Given the description of an element on the screen output the (x, y) to click on. 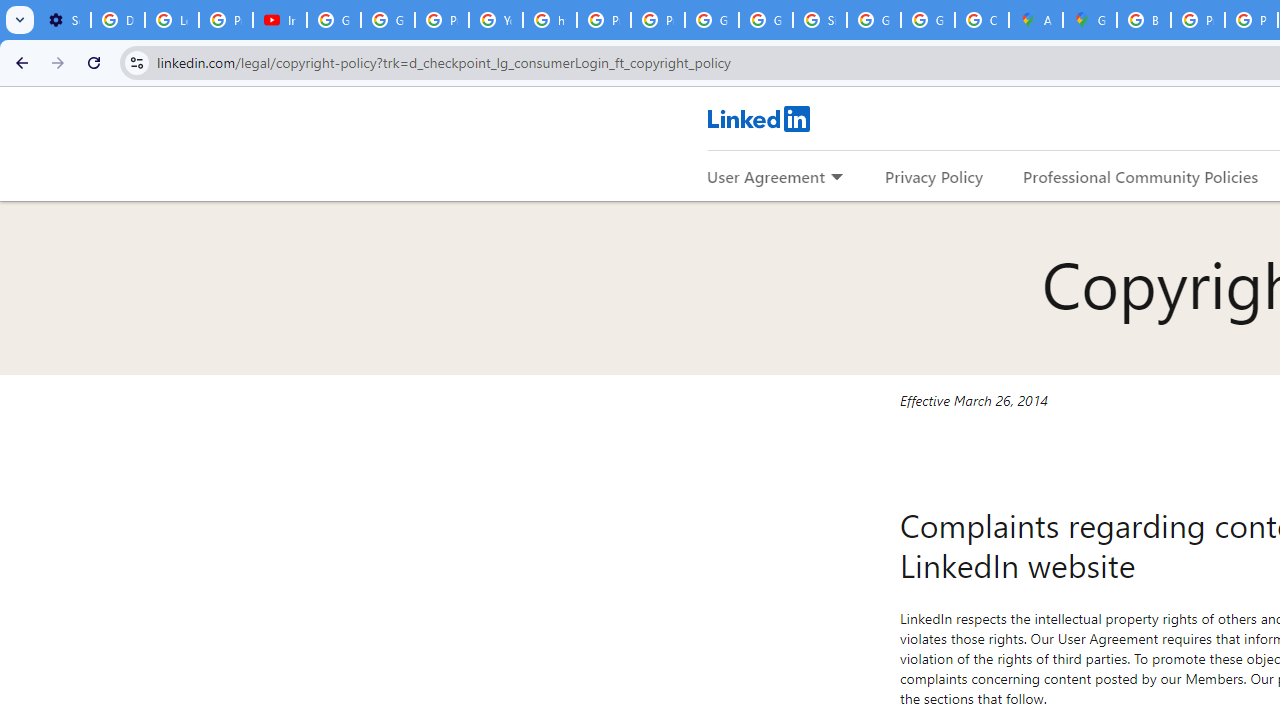
Introduction | Google Privacy Policy - YouTube (280, 20)
Blogger Policies and Guidelines - Transparency Center (1144, 20)
Privacy Help Center - Policies Help (441, 20)
